Given the description of an element on the screen output the (x, y) to click on. 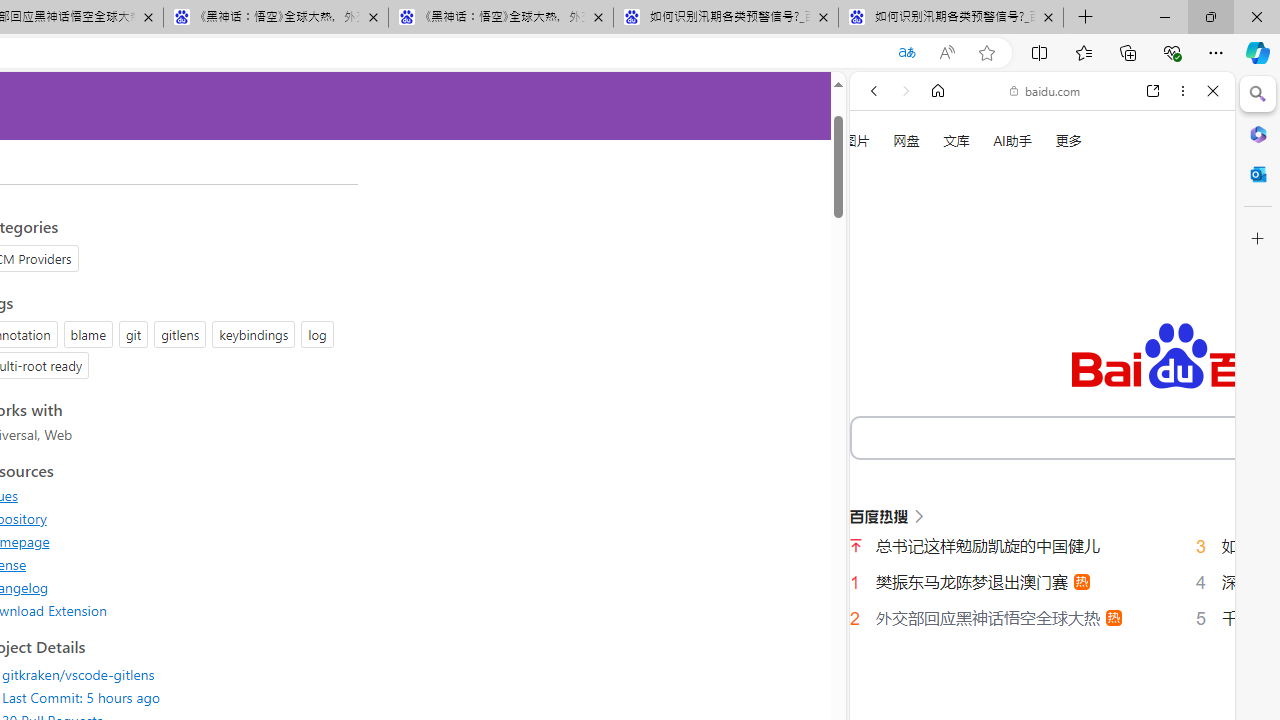
Forward (906, 91)
IMAGES (939, 339)
VIDEOS (1006, 339)
baidu.com (1045, 90)
Class: b_serphb (1190, 339)
Open link in new tab (1153, 91)
OF | English meaning - Cambridge Dictionary (1034, 419)
